Given the description of an element on the screen output the (x, y) to click on. 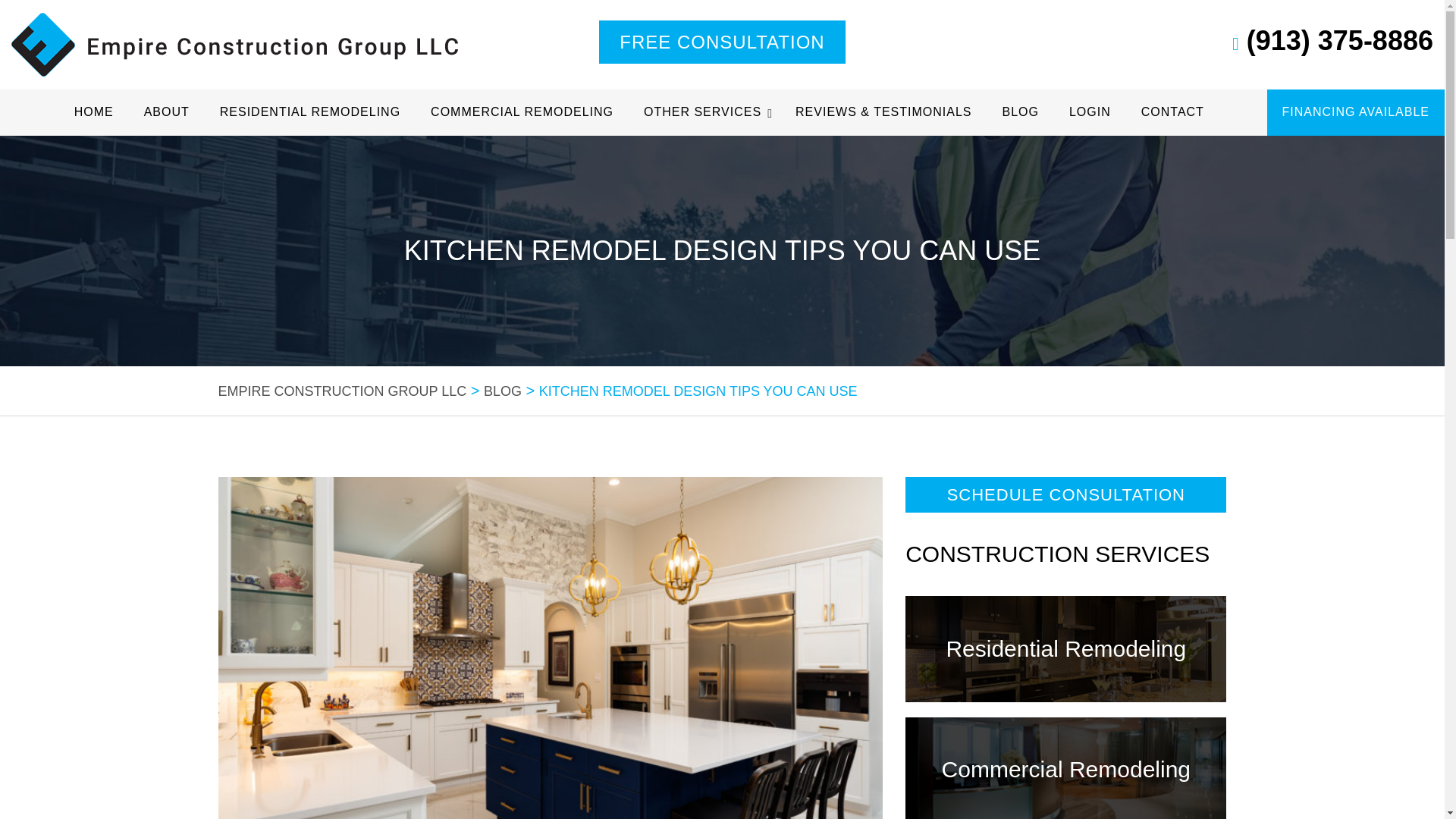
BLOG (1019, 112)
EMPIRE CONSTRUCTION GROUP LLC (342, 391)
FREE CONSULTATION (721, 41)
HOME (94, 112)
Go to Empire Construction Group LLC. (342, 391)
BLOG (502, 391)
LOGIN (1089, 112)
Commercial Remodeling (1066, 769)
CONTACT (1172, 112)
Residential Remodeling (1065, 648)
COMMERCIAL REMODELING (521, 112)
view more (1065, 648)
ABOUT (167, 112)
Go to the blog category archives. (502, 391)
view more (1066, 769)
